Given the description of an element on the screen output the (x, y) to click on. 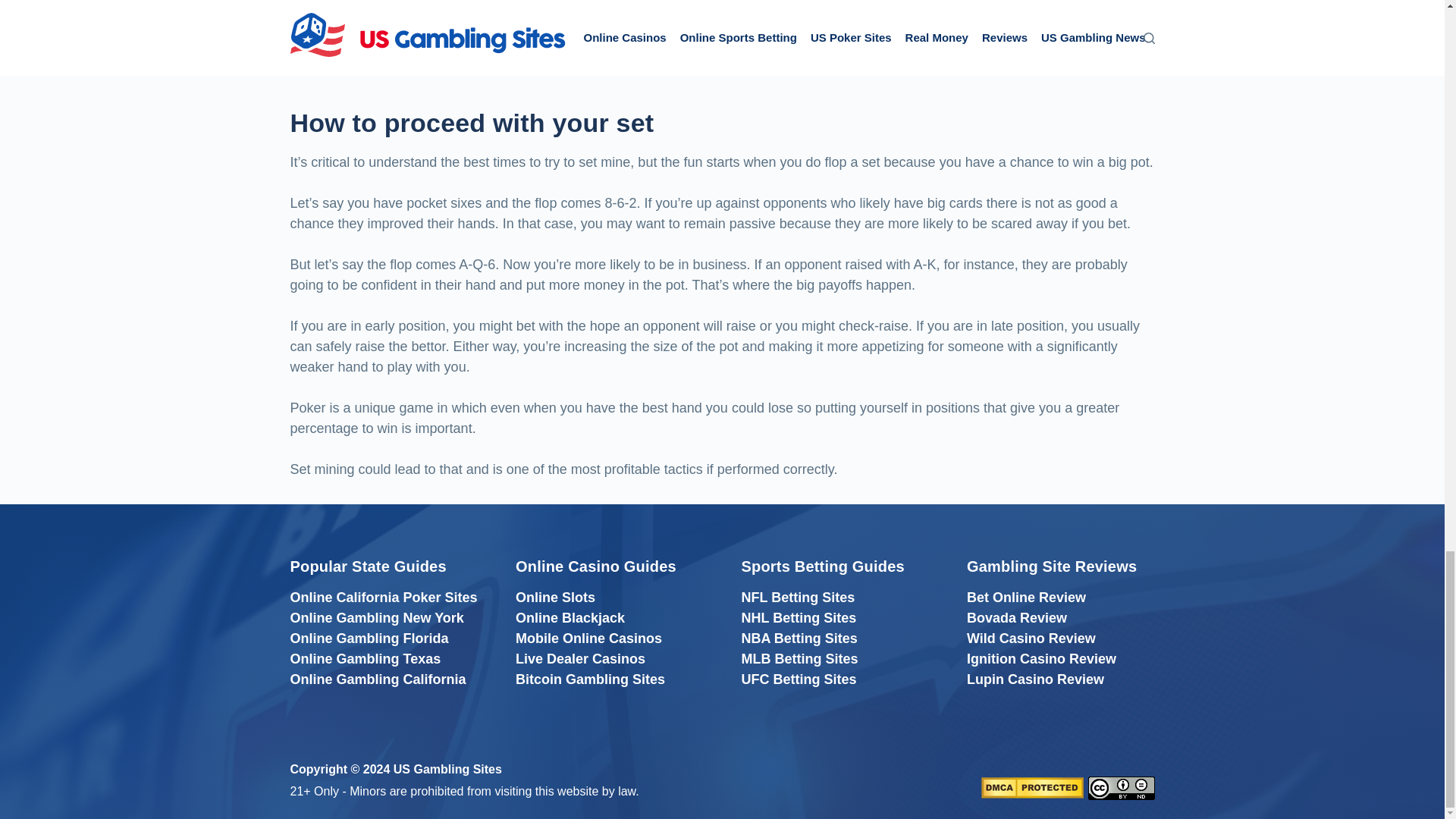
DMCA.com Protection Status (1032, 786)
Online Gambling New York (376, 617)
Online California Poker Sites (383, 597)
